Given the description of an element on the screen output the (x, y) to click on. 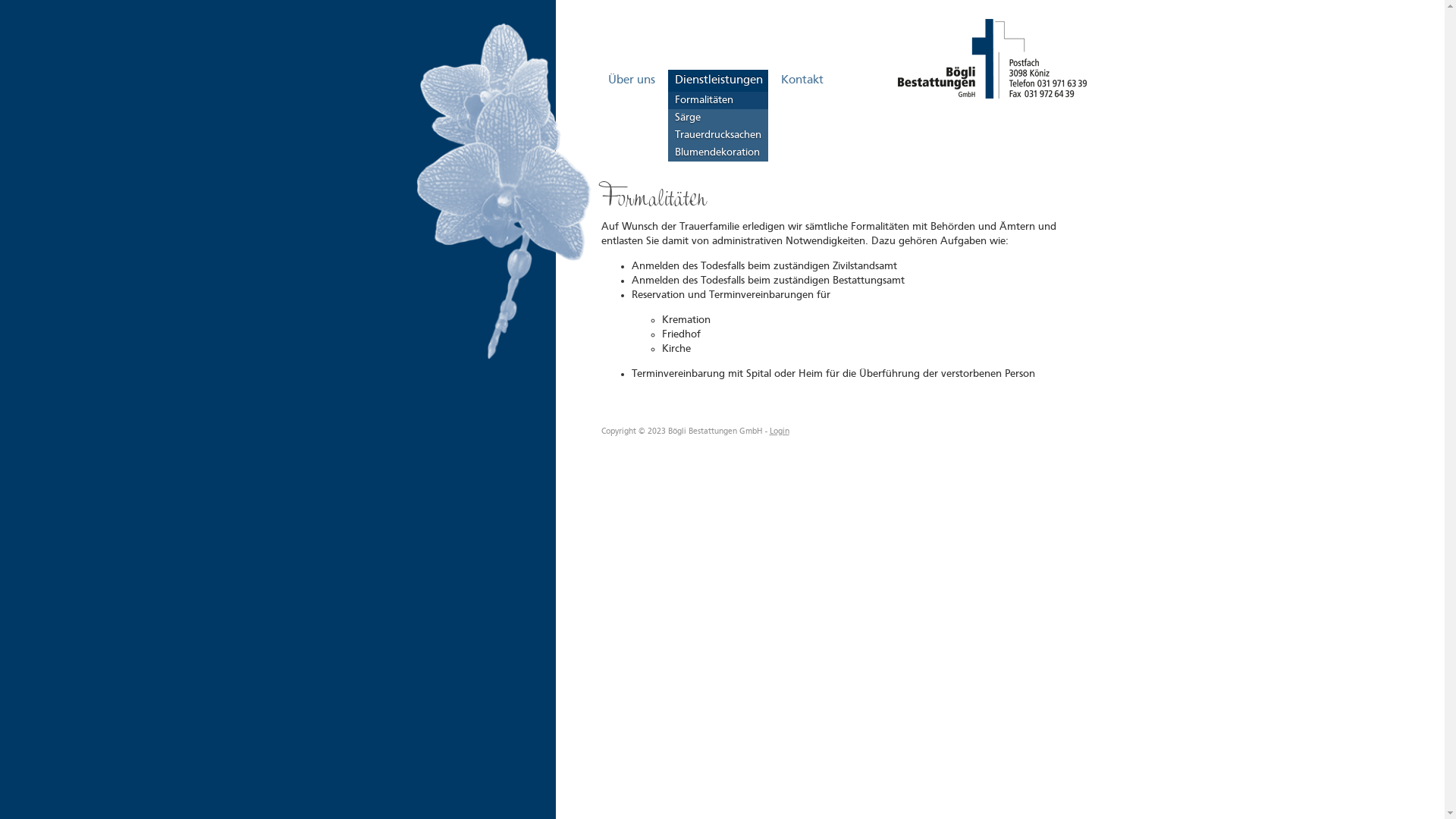
Login Element type: text (778, 431)
Kontakt Element type: text (800, 80)
Blumendekoration Element type: text (717, 152)
Dienstleistungen Element type: text (717, 80)
Trauerdrucksachen Element type: text (717, 135)
